Given the description of an element on the screen output the (x, y) to click on. 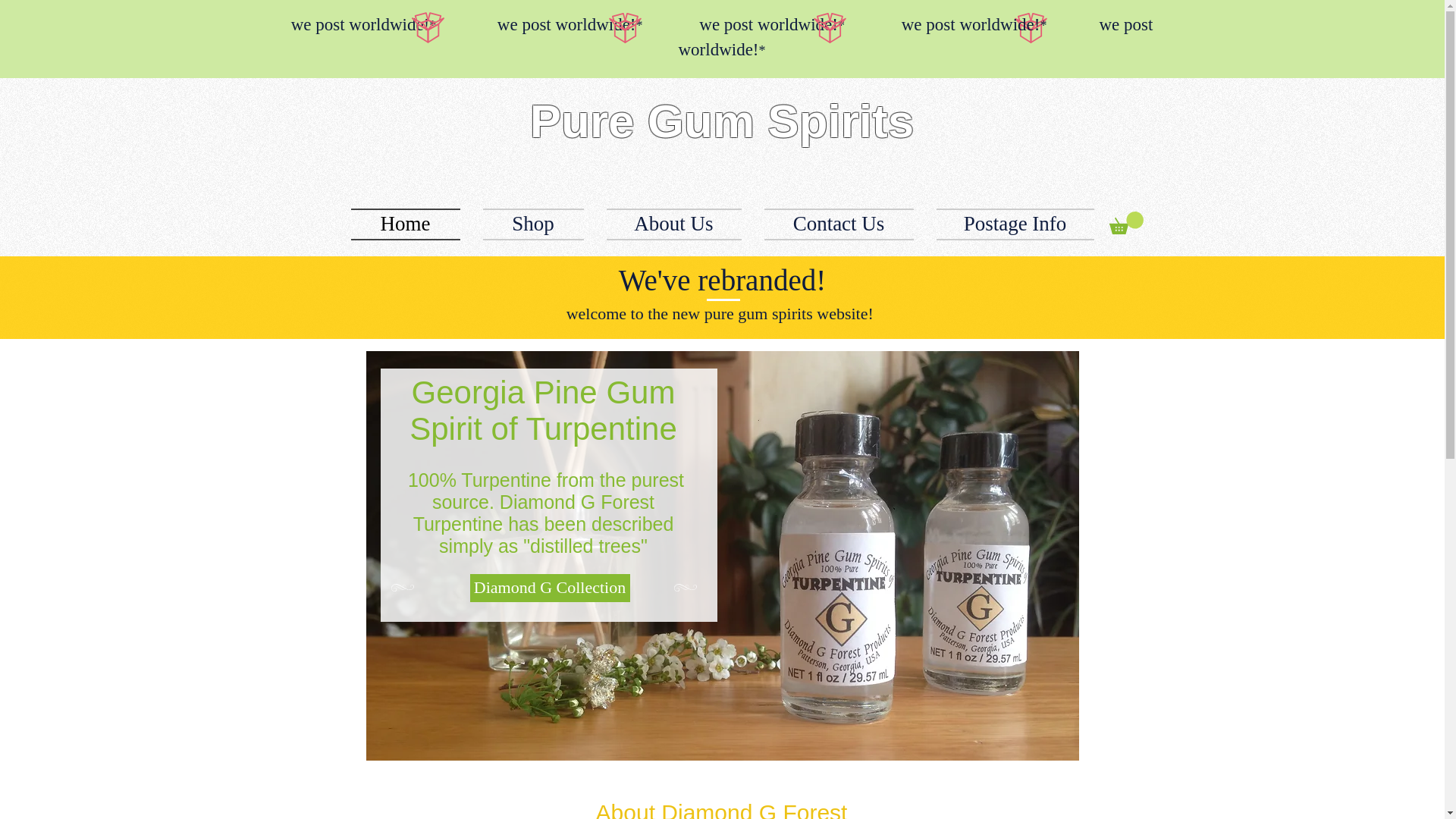
Contact Us (838, 223)
Postage Info (1009, 223)
About Us (673, 223)
Home (410, 223)
Shop (533, 223)
Diamond G Collection (550, 587)
